Given the description of an element on the screen output the (x, y) to click on. 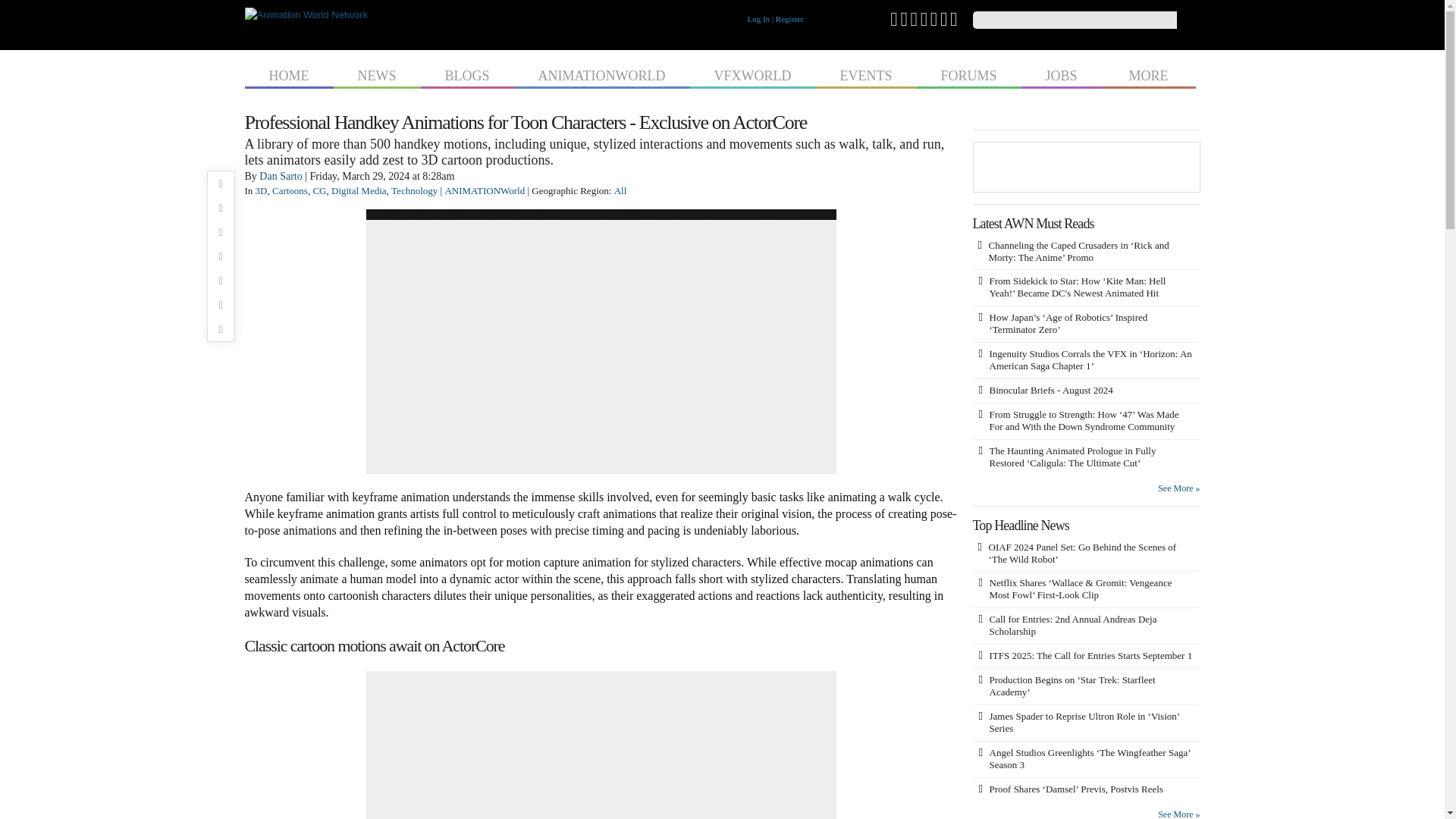
CG (319, 190)
Search (1187, 19)
MORE (1148, 73)
Register (789, 18)
ANIMATIONWorld (484, 190)
JOBS (1062, 73)
NEWS (376, 73)
Technology (414, 190)
Enter the terms you wish to search for. (1074, 19)
VFXWORLD (752, 73)
